Given the description of an element on the screen output the (x, y) to click on. 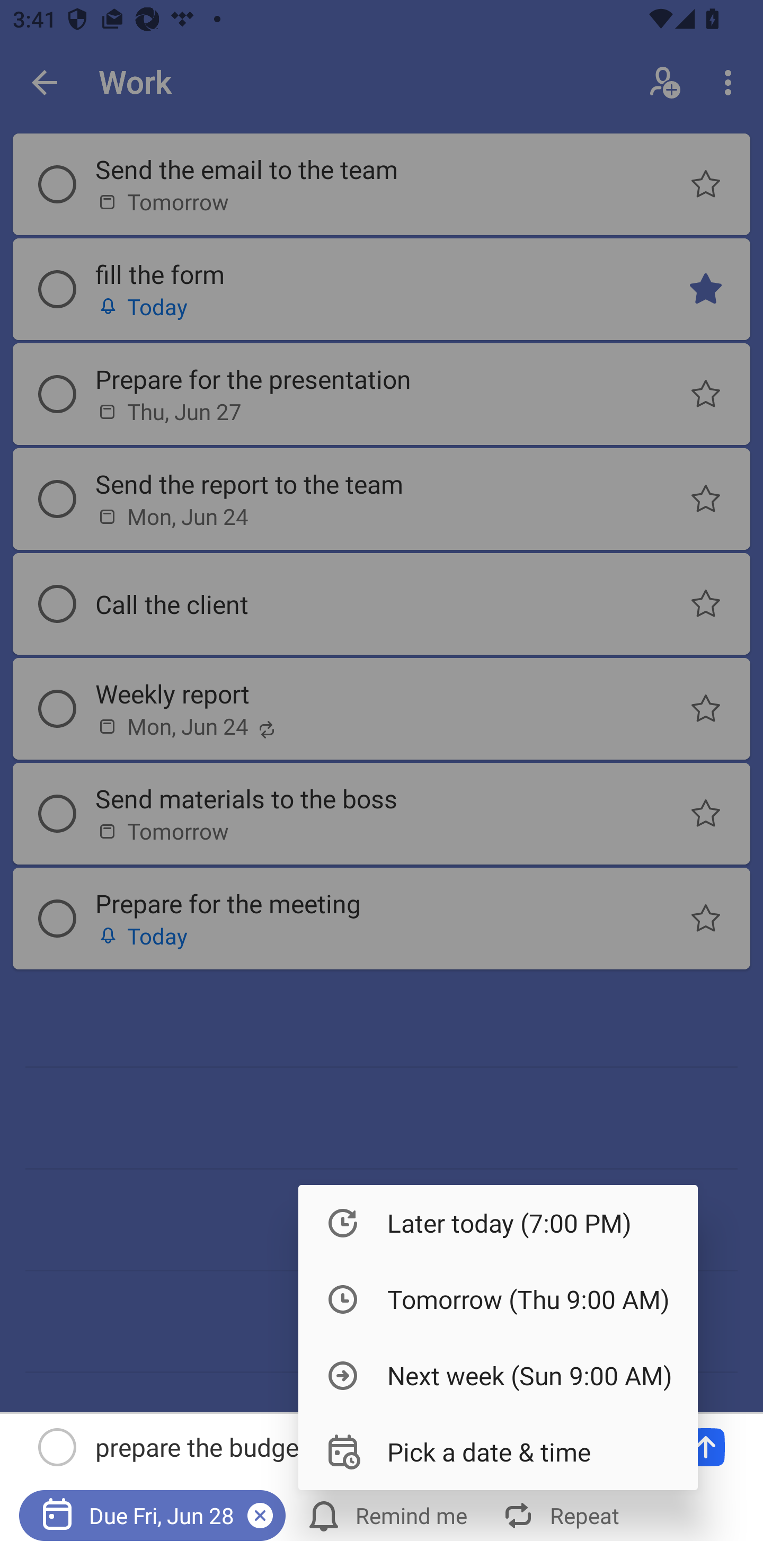
Pick a date & time4 in 4 Pick a date & time (498, 1451)
